Given the description of an element on the screen output the (x, y) to click on. 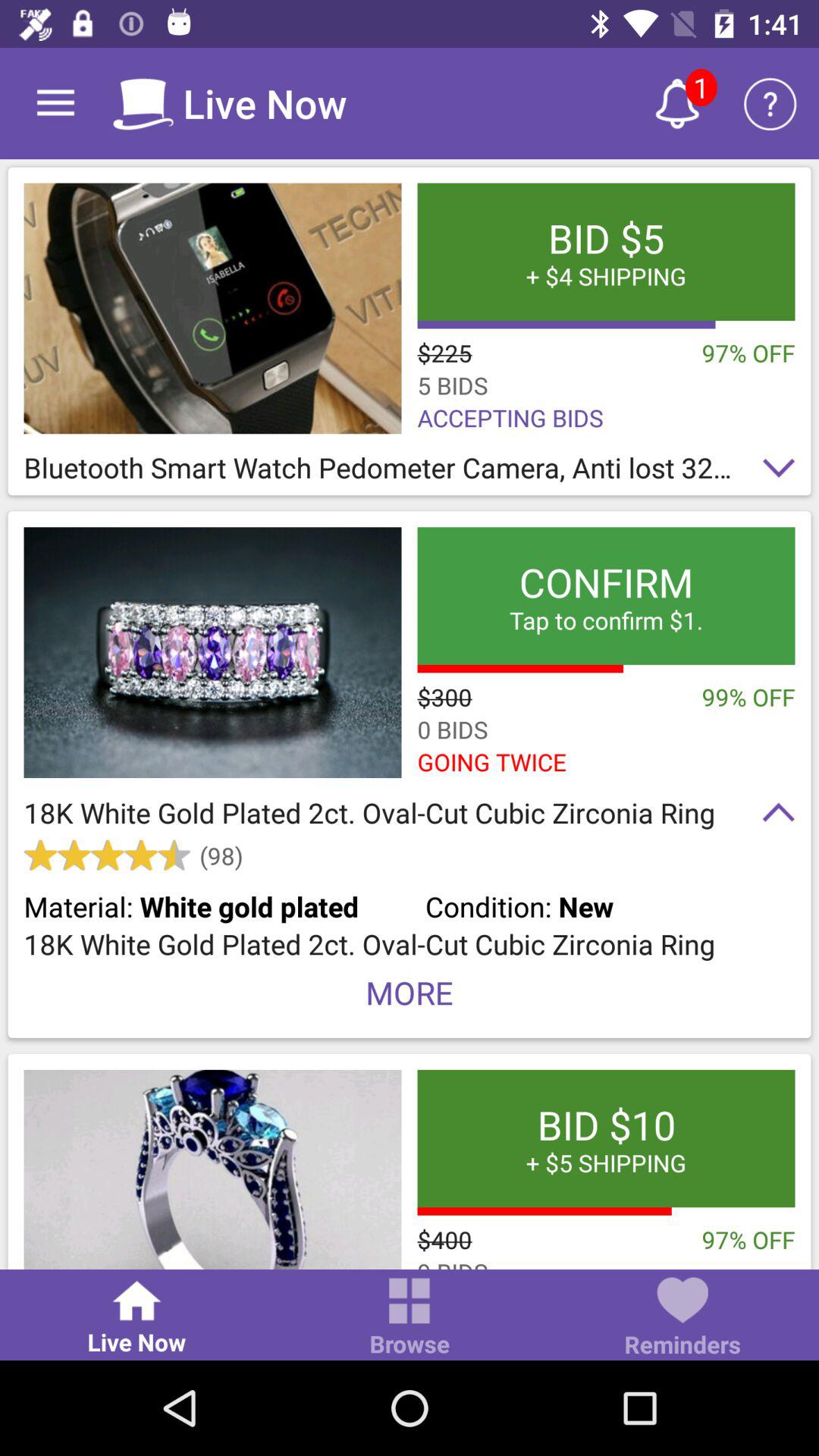
notifications (677, 103)
